Given the description of an element on the screen output the (x, y) to click on. 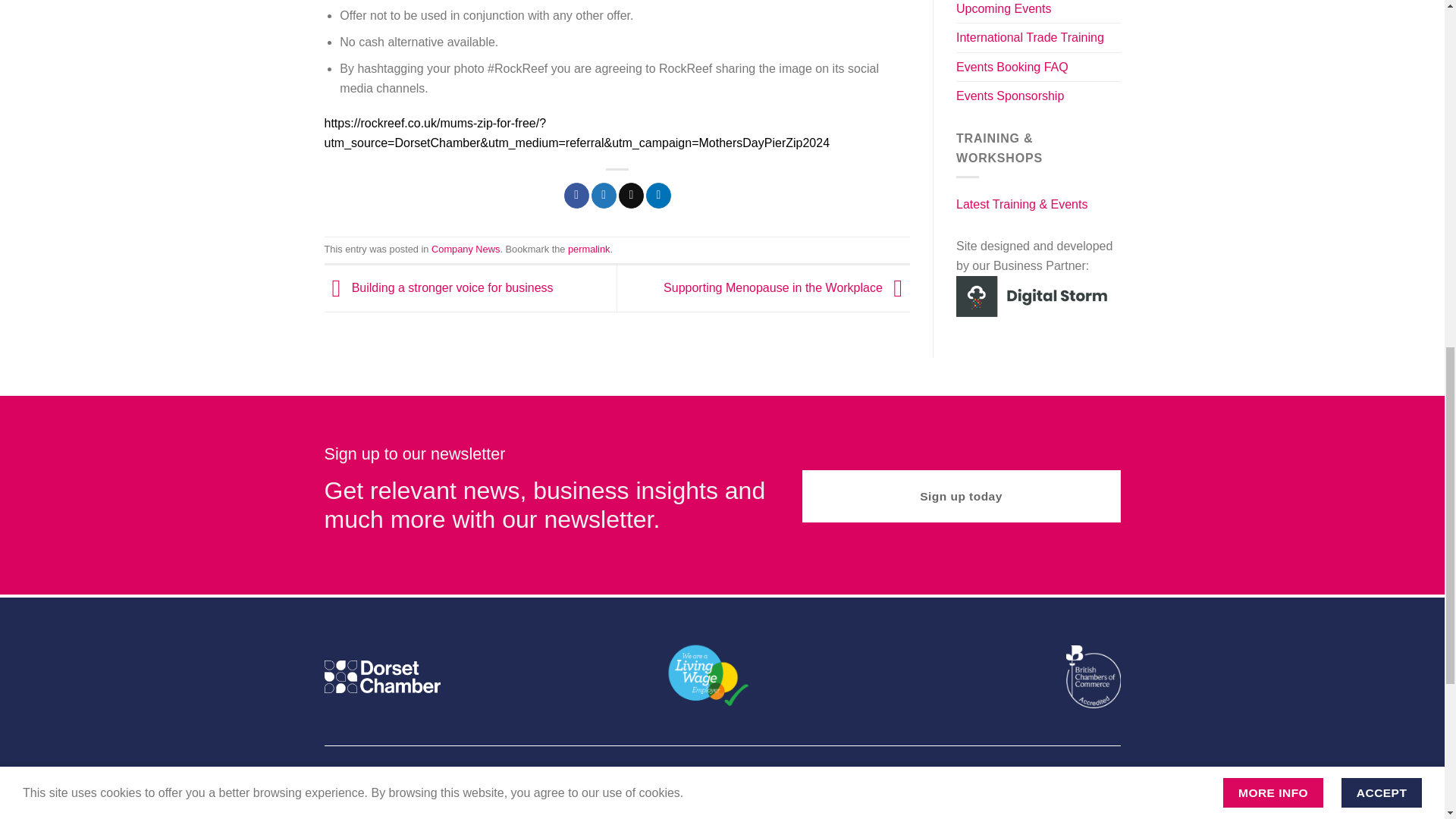
Share on Twitter (603, 195)
Email to a Friend (630, 195)
Share on Facebook (576, 195)
Share on LinkedIn (658, 195)
